Given the description of an element on the screen output the (x, y) to click on. 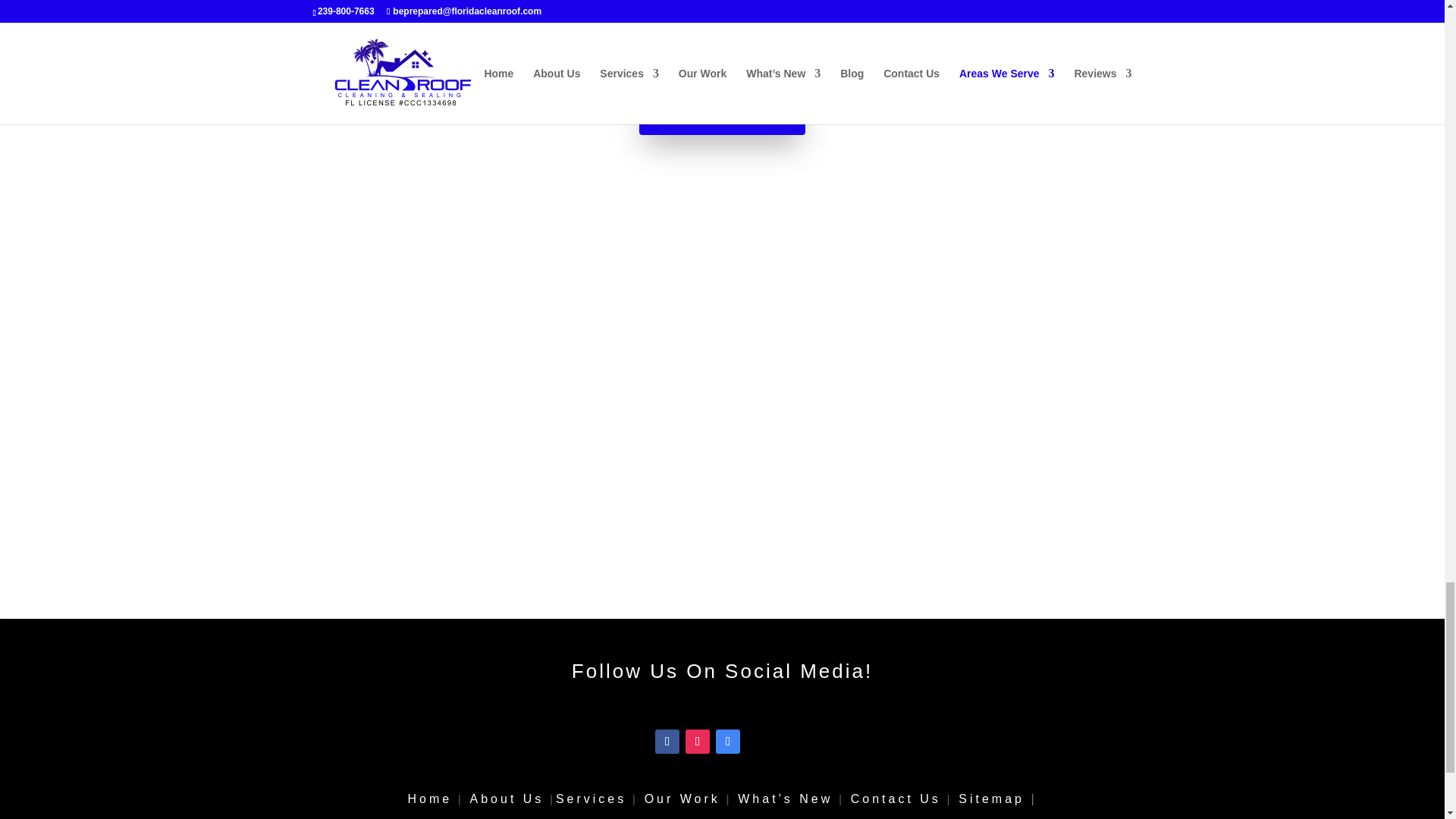
Contact Us (895, 798)
Services (591, 798)
About Us (507, 798)
Home (429, 798)
Our Work (682, 798)
CALL US TODAY (722, 113)
